Given the description of an element on the screen output the (x, y) to click on. 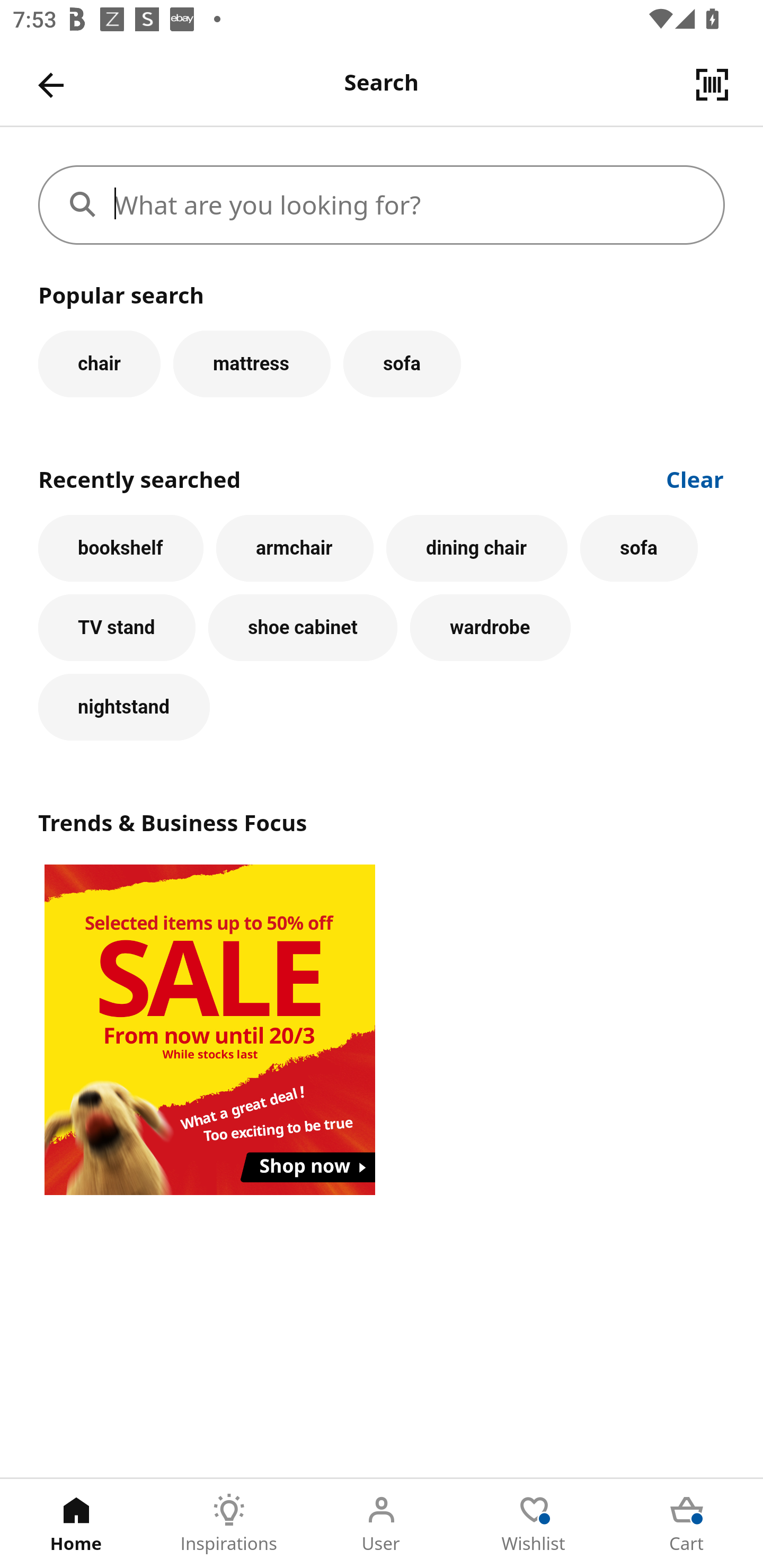
chair (99, 363)
mattress (251, 363)
sofa (401, 363)
Clear (695, 477)
bookshelf (120, 547)
armchair (294, 547)
dining chair (476, 547)
sofa (638, 547)
TV stand (116, 627)
shoe cabinet (302, 627)
wardrobe (490, 627)
nightstand (123, 707)
Home
Tab 1 of 5 (76, 1522)
Inspirations
Tab 2 of 5 (228, 1522)
User
Tab 3 of 5 (381, 1522)
Wishlist
Tab 4 of 5 (533, 1522)
Cart
Tab 5 of 5 (686, 1522)
